Given the description of an element on the screen output the (x, y) to click on. 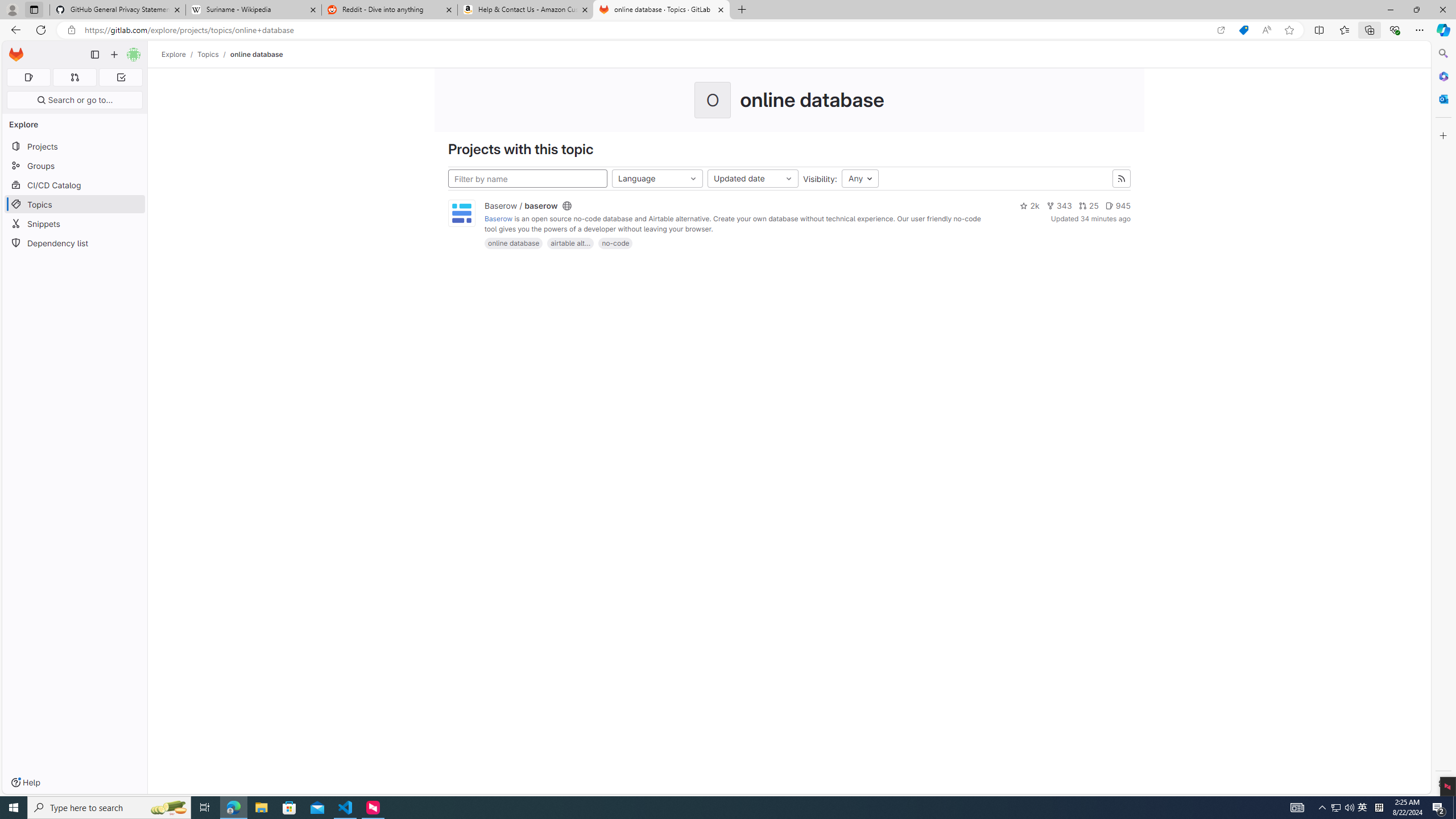
CI/CD Catalog (74, 185)
Dependency list (74, 242)
no-code (614, 243)
Groups (74, 165)
Class: s16 gl-icon gl-button-icon  (1120, 178)
Create new... (113, 54)
Class: s16 dropdown-menu-toggle-icon (788, 178)
Subscribe to the new projects feed (1121, 178)
